Given the description of an element on the screen output the (x, y) to click on. 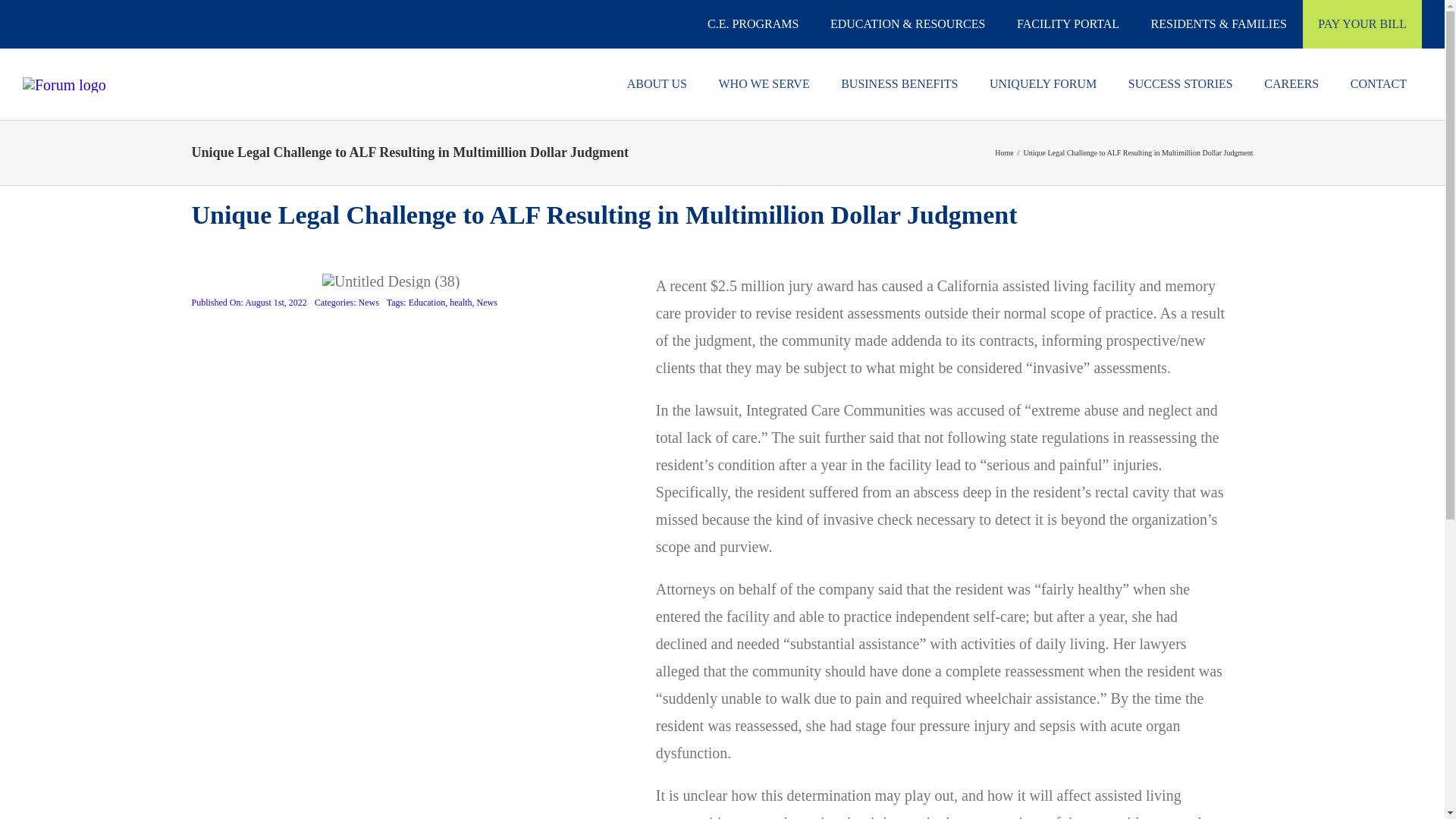
BUSINESS BENEFITS (898, 83)
SUCCESS STORIES (1180, 83)
C.E. PROGRAMS (753, 24)
CAREERS (1291, 83)
FACILITY PORTAL (1067, 24)
ABOUT US (656, 83)
CONTACT (1378, 83)
PAY YOUR BILL (1362, 24)
WHO WE SERVE (763, 83)
UNIQUELY FORUM (1043, 83)
